Given the description of an element on the screen output the (x, y) to click on. 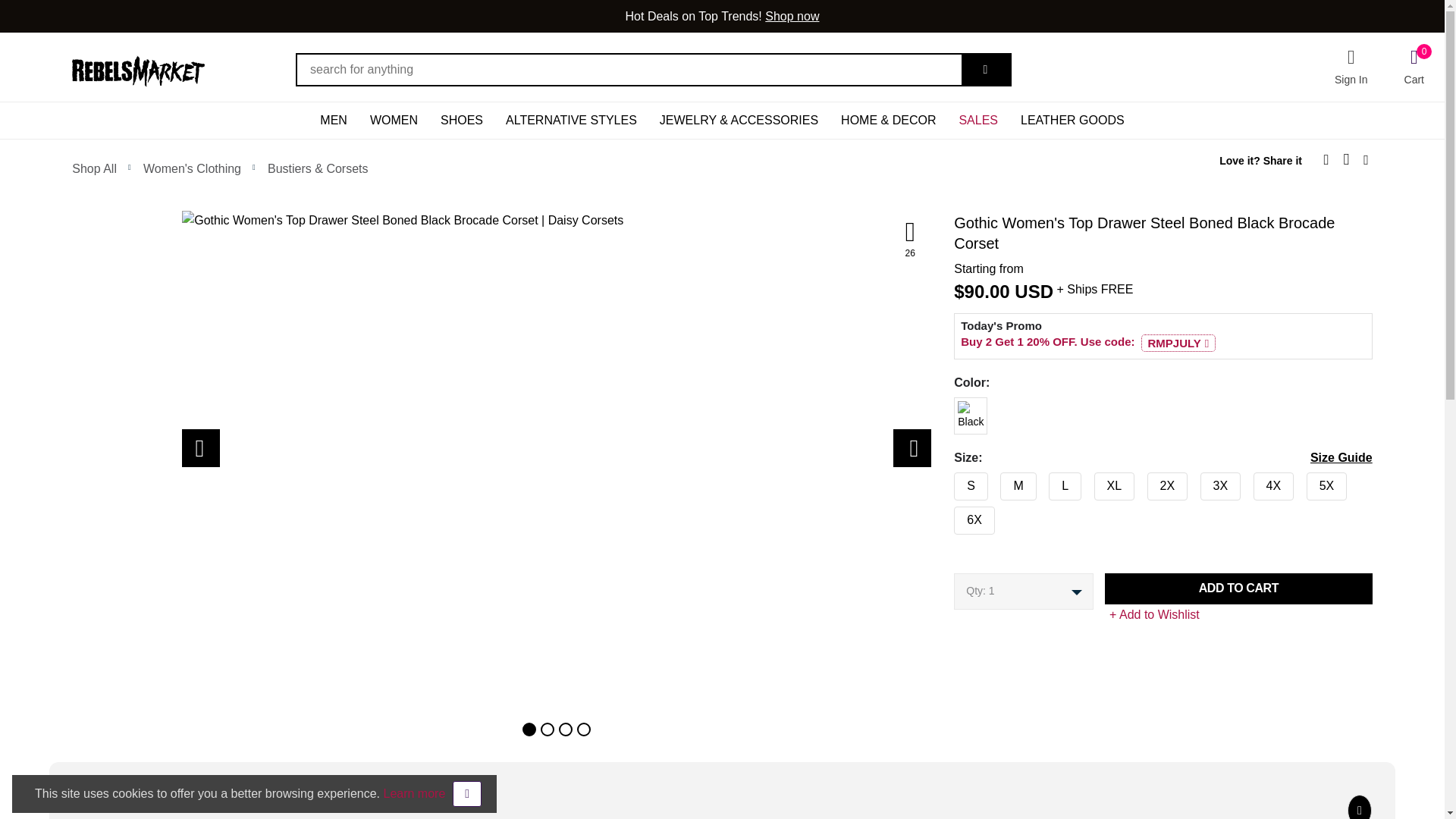
3X (949, 482)
S (949, 482)
Sign In (1351, 66)
M (949, 482)
L (949, 482)
Black (949, 407)
5X (949, 482)
WOMEN (393, 119)
XL (949, 482)
90.00 (986, 291)
4X (949, 482)
2X (949, 482)
MEN (333, 119)
USD (1033, 291)
6X (949, 517)
